Given the description of an element on the screen output the (x, y) to click on. 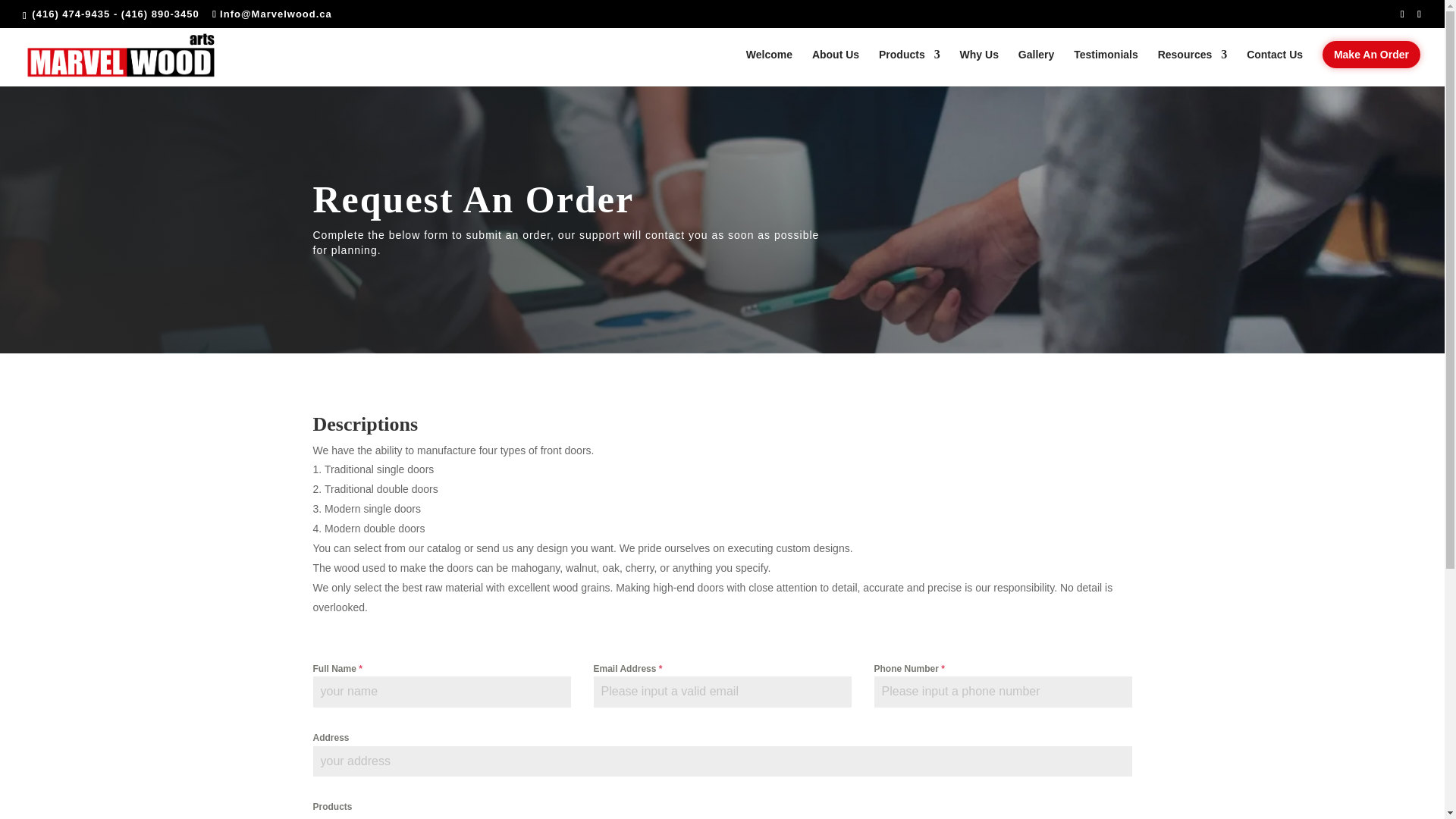
Testimonials (1106, 67)
Resources (1192, 67)
Gallery (1035, 67)
About Us (835, 67)
Contact Us (1274, 67)
Make An Order (1371, 67)
Why Us (978, 67)
Welcome (768, 67)
Products (909, 67)
